Given the description of an element on the screen output the (x, y) to click on. 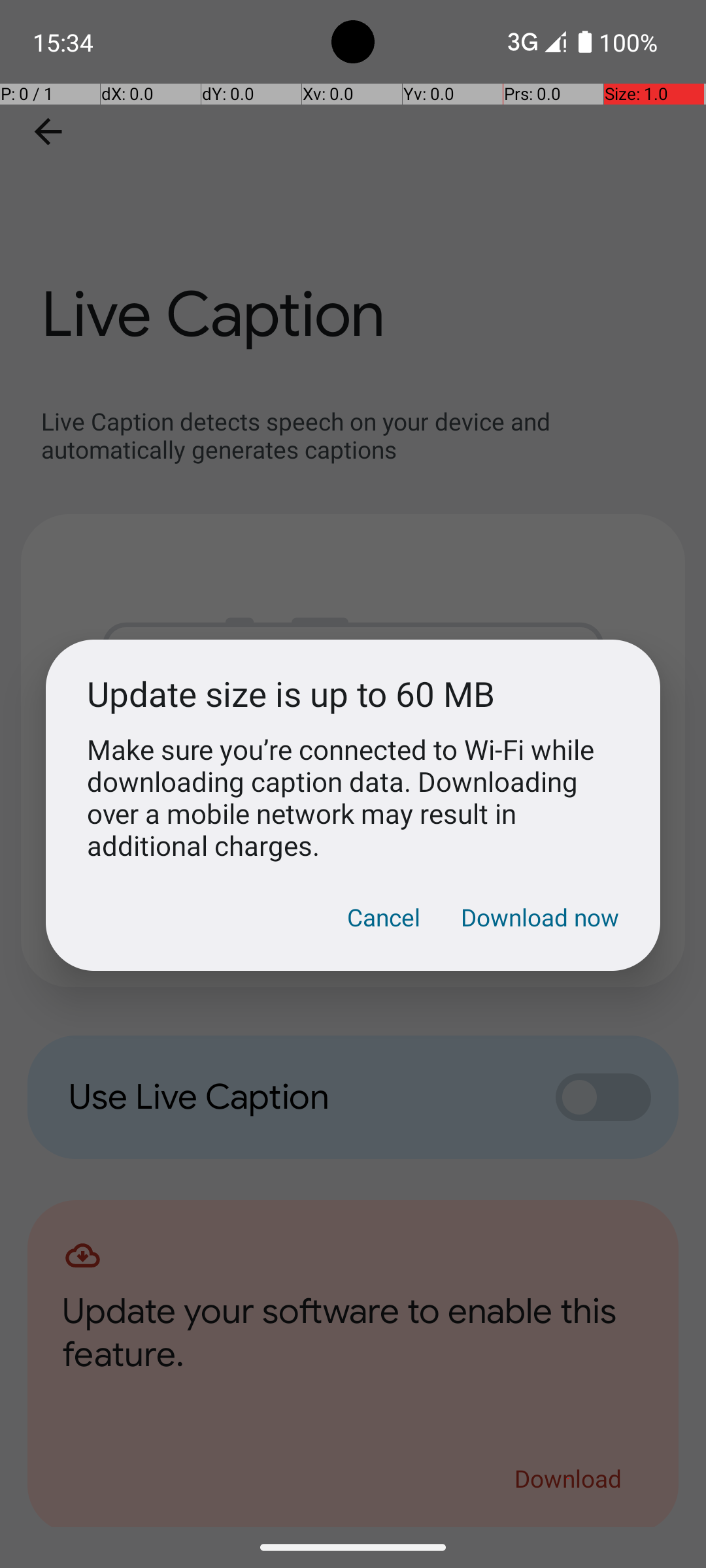
Update size is up to 60 MB Element type: android.widget.TextView (352, 693)
Make sure you’re connected to Wi-Fi while downloading caption data. Downloading over a mobile network may result in additional charges. Element type: android.widget.TextView (352, 796)
Download now Element type: android.widget.Button (539, 916)
